Given the description of an element on the screen output the (x, y) to click on. 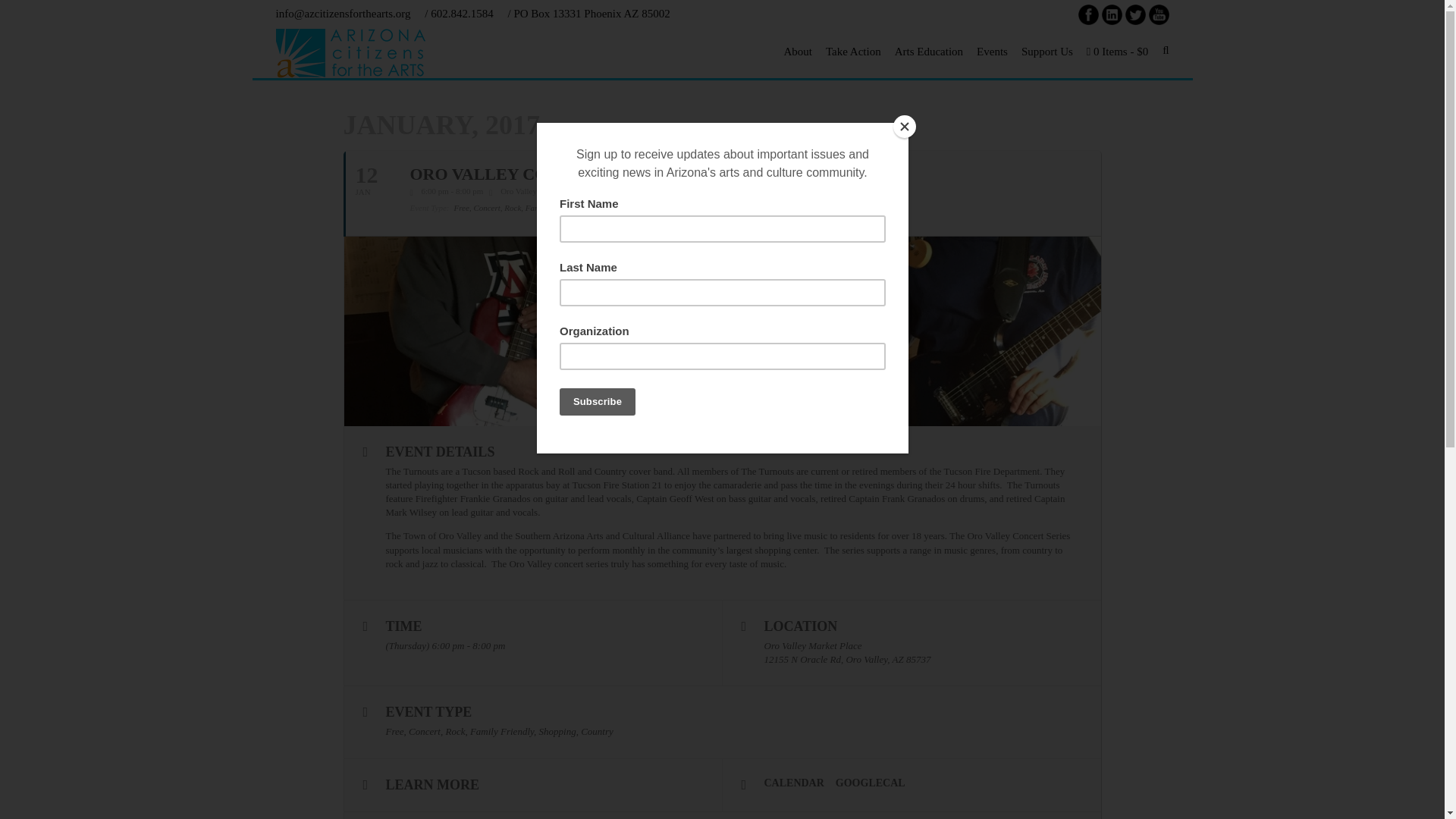
Add to your calendar (799, 783)
Take Action (853, 51)
Add to google calendar (876, 783)
About (797, 51)
